Given the description of an element on the screen output the (x, y) to click on. 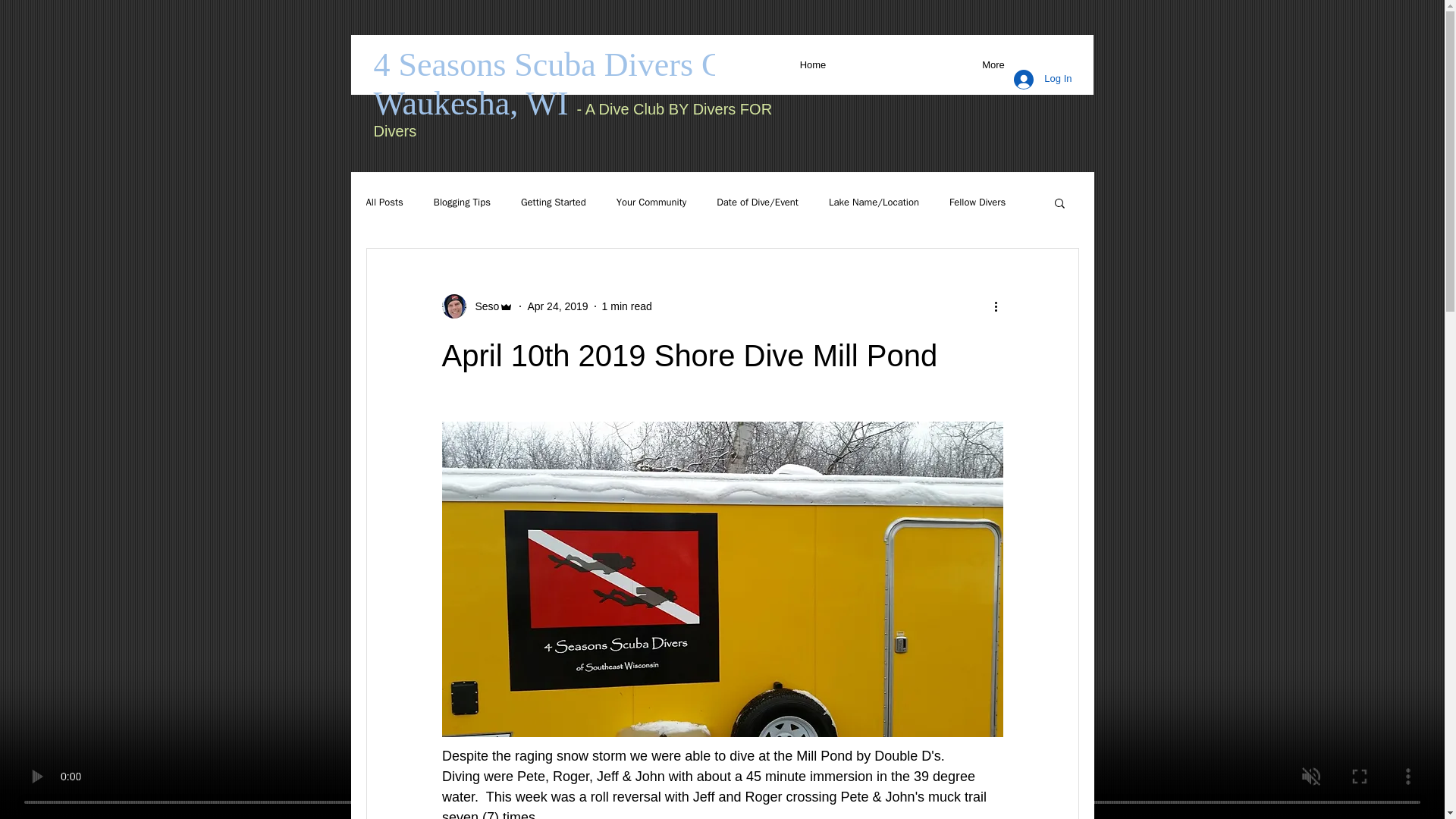
All Posts (384, 202)
Getting Started (553, 202)
Home (812, 64)
1 min read (627, 306)
Log In (1042, 79)
Your Community (650, 202)
Seso (477, 306)
Seso (482, 306)
Fellow Divers (977, 202)
Apr 24, 2019 (557, 306)
Blogging Tips (461, 202)
